Given the description of an element on the screen output the (x, y) to click on. 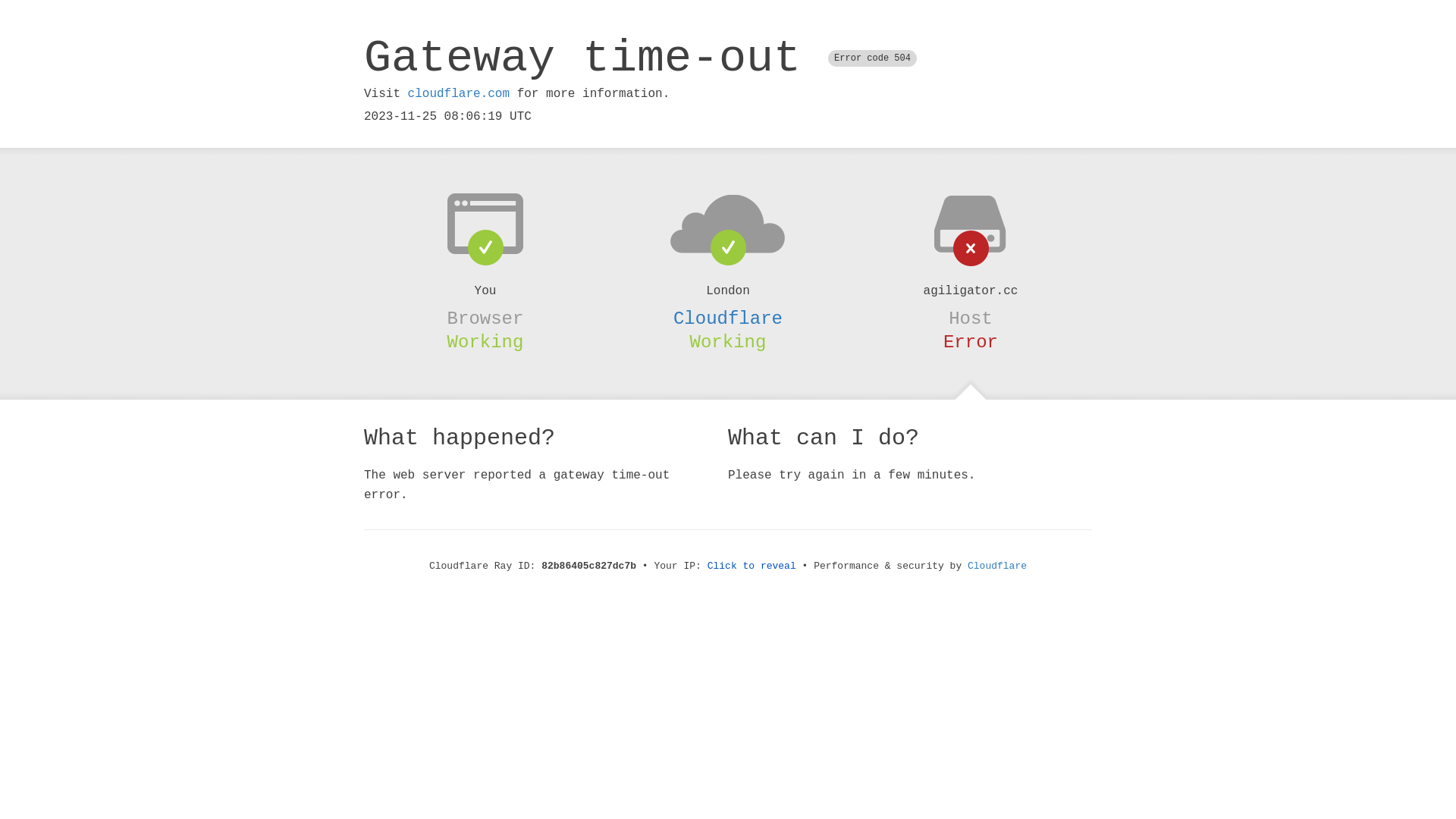
Cloudflare Element type: text (996, 565)
Click to reveal Element type: text (751, 565)
Cloudflare Element type: text (727, 318)
cloudflare.com Element type: text (458, 93)
